Given the description of an element on the screen output the (x, y) to click on. 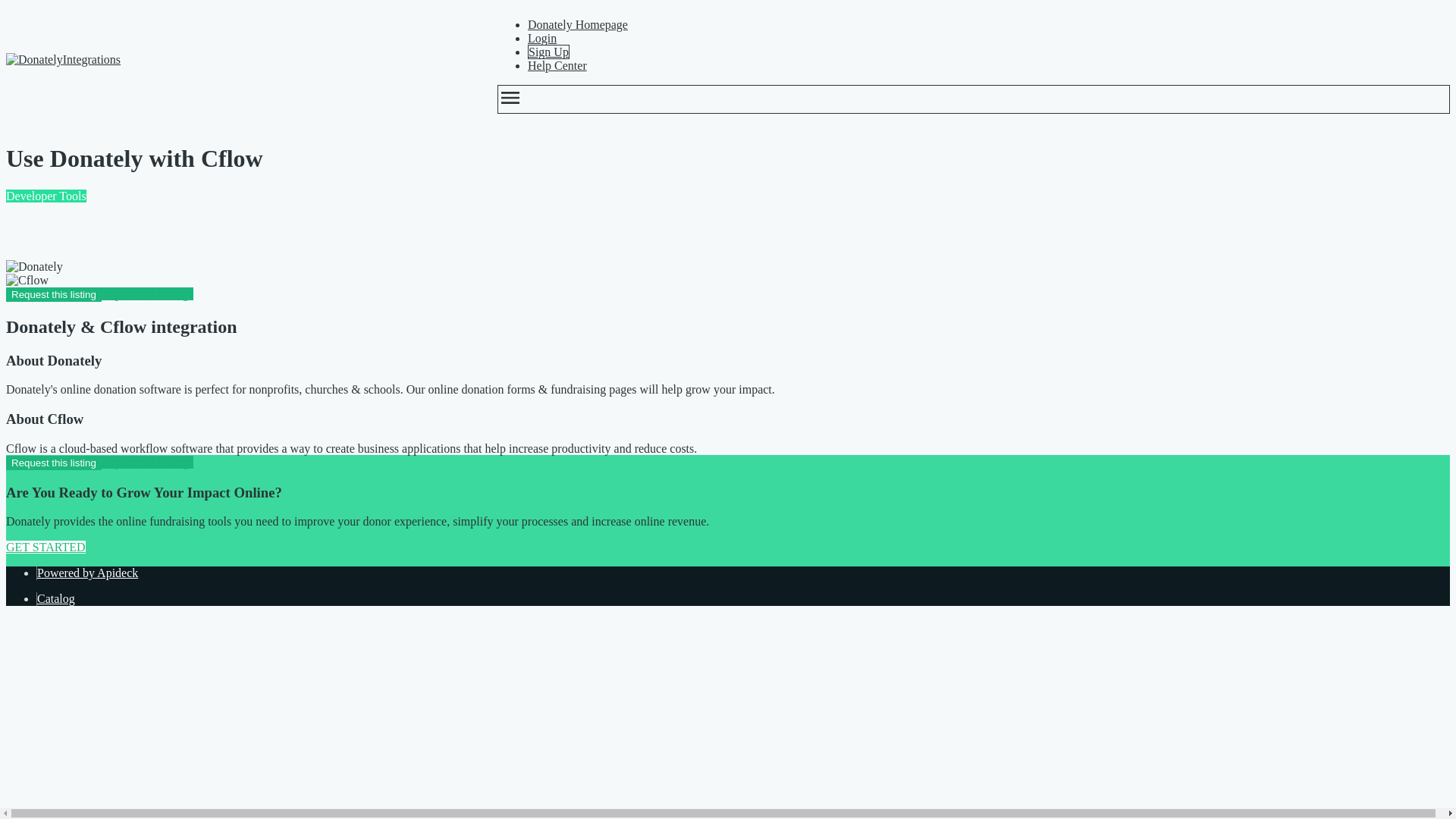
Help Center (556, 65)
Catalog (56, 598)
Donately Homepage (577, 24)
GET STARTED (45, 546)
Donately (33, 266)
Donately (33, 59)
Explore all listings (147, 461)
Request this listing (53, 462)
Integrations (236, 59)
Powered by Apideck (87, 572)
